Given the description of an element on the screen output the (x, y) to click on. 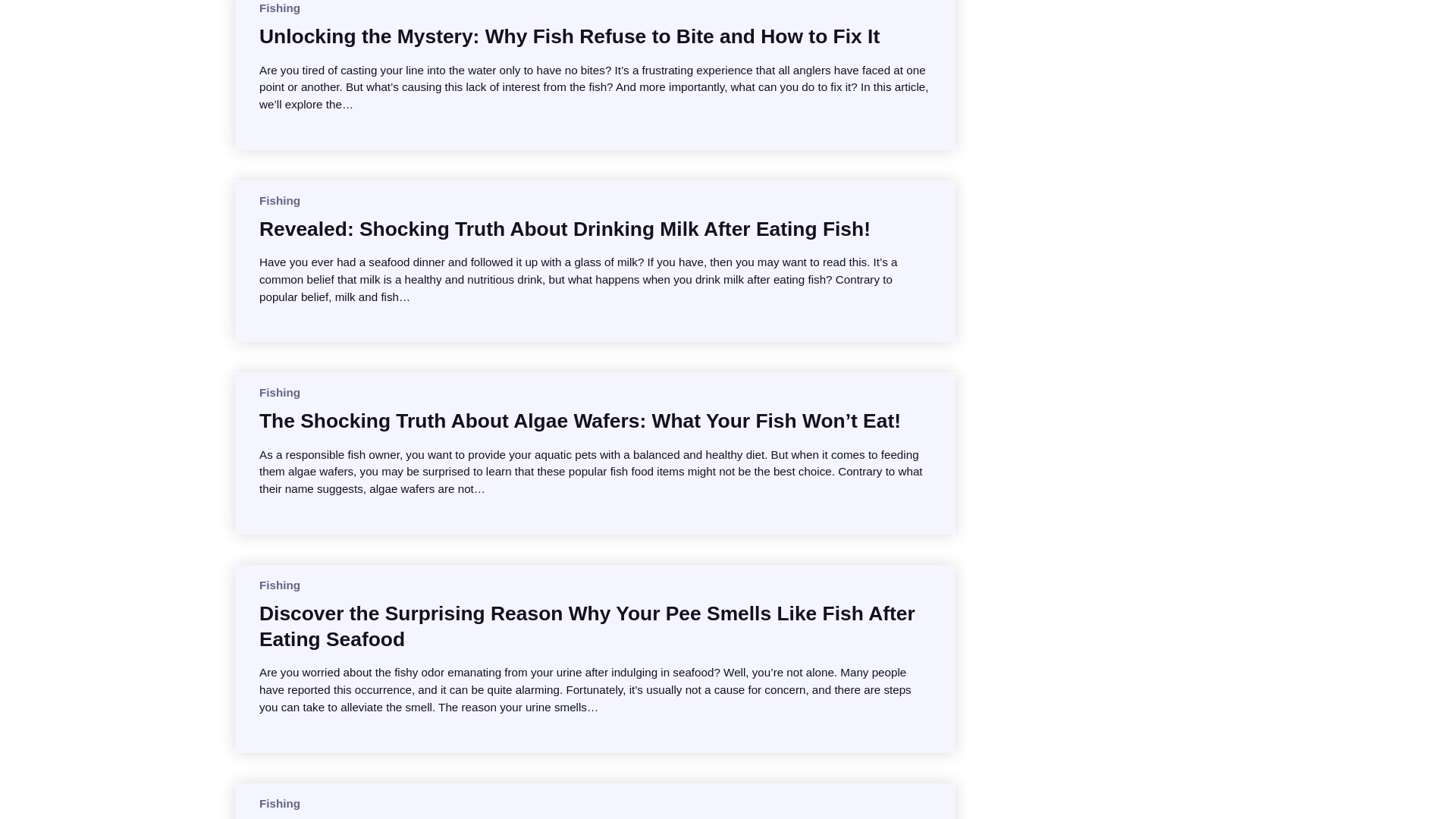
Fishing (279, 391)
Fishing (279, 200)
Fishing (279, 7)
Fishing (279, 584)
Fishing (279, 802)
